Given the description of an element on the screen output the (x, y) to click on. 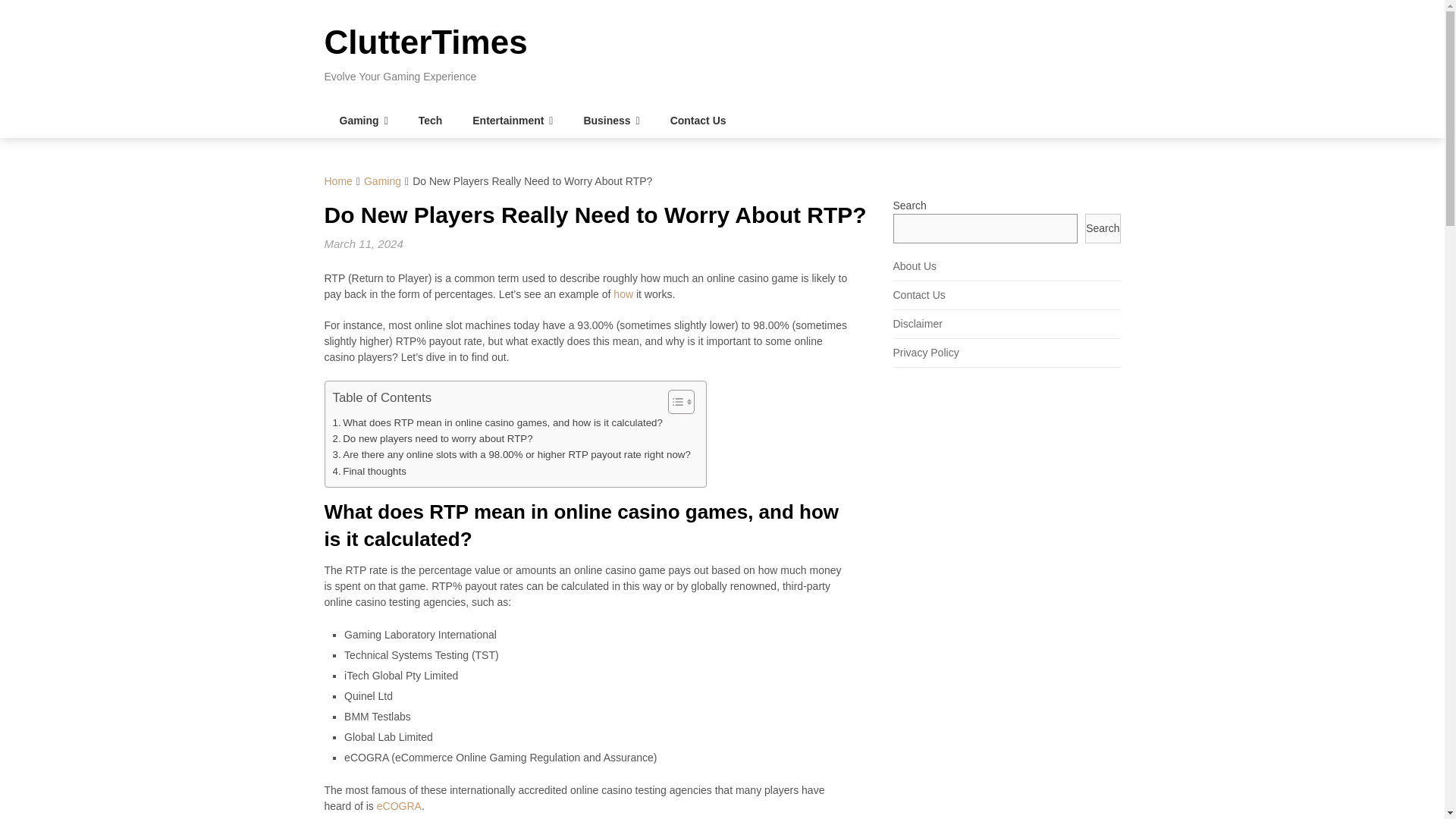
Tech (430, 121)
ClutterTimes (425, 41)
Do new players need to worry about RTP? (431, 438)
Gaming (363, 121)
Do new players need to worry about RTP? (431, 438)
Search (1101, 228)
Final thoughts (368, 471)
Gaming (382, 181)
Entertainment (512, 121)
Disclaimer (917, 323)
Home (338, 181)
Contact Us (698, 121)
About Us (915, 265)
